Given the description of an element on the screen output the (x, y) to click on. 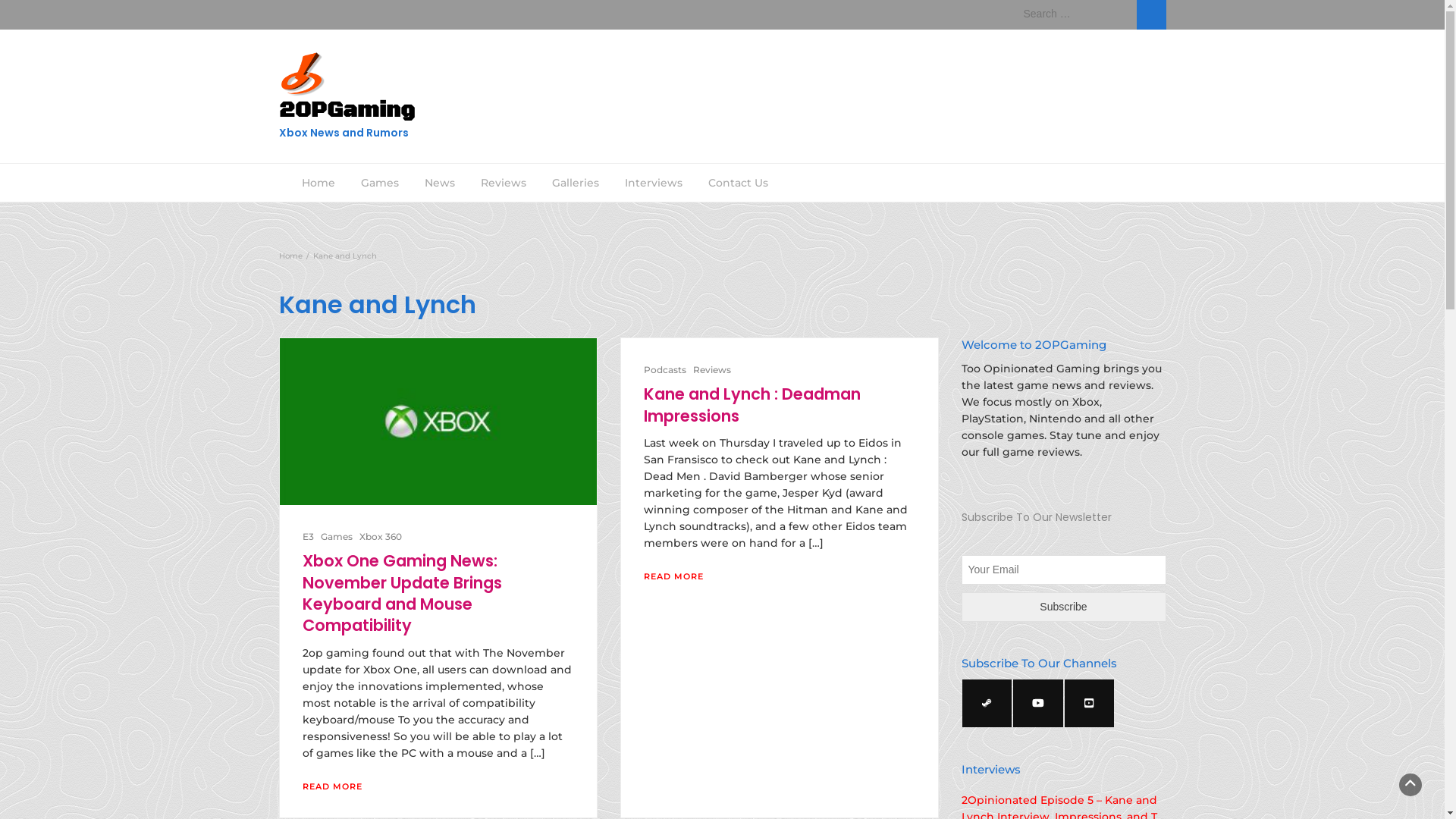
Subscribe Element type: text (1063, 606)
Reviews Element type: text (712, 369)
Kane and Lynch : Deadman Impressions Element type: text (751, 404)
E3 Element type: text (307, 536)
Podcasts Element type: text (664, 369)
2OPGaming
Xbox News and Rumors Element type: text (419, 132)
Xbox 360 Element type: text (380, 536)
Games Element type: text (378, 182)
Galleries Element type: text (574, 182)
Search for: Element type: hover (1076, 14)
Home Element type: text (290, 255)
News Element type: text (438, 182)
https://www.youtube.com/channel/UC2myapzsnlxqbQ6RAZ4I1JA Element type: hover (1038, 703)
Interviews Element type: text (652, 182)
Home Element type: text (317, 182)
READ MORE Element type: text (331, 786)
https://gaming.youtube.com/channel/UC65ORs-fyB1hmyRKcF3t0fA Element type: hover (1089, 703)
https://steam-symbol.com Element type: hover (986, 703)
Reviews Element type: text (502, 182)
Games Element type: text (335, 536)
Contact Us Element type: text (737, 182)
READ MORE Element type: text (672, 576)
Search Element type: text (1150, 14)
